Given the description of an element on the screen output the (x, y) to click on. 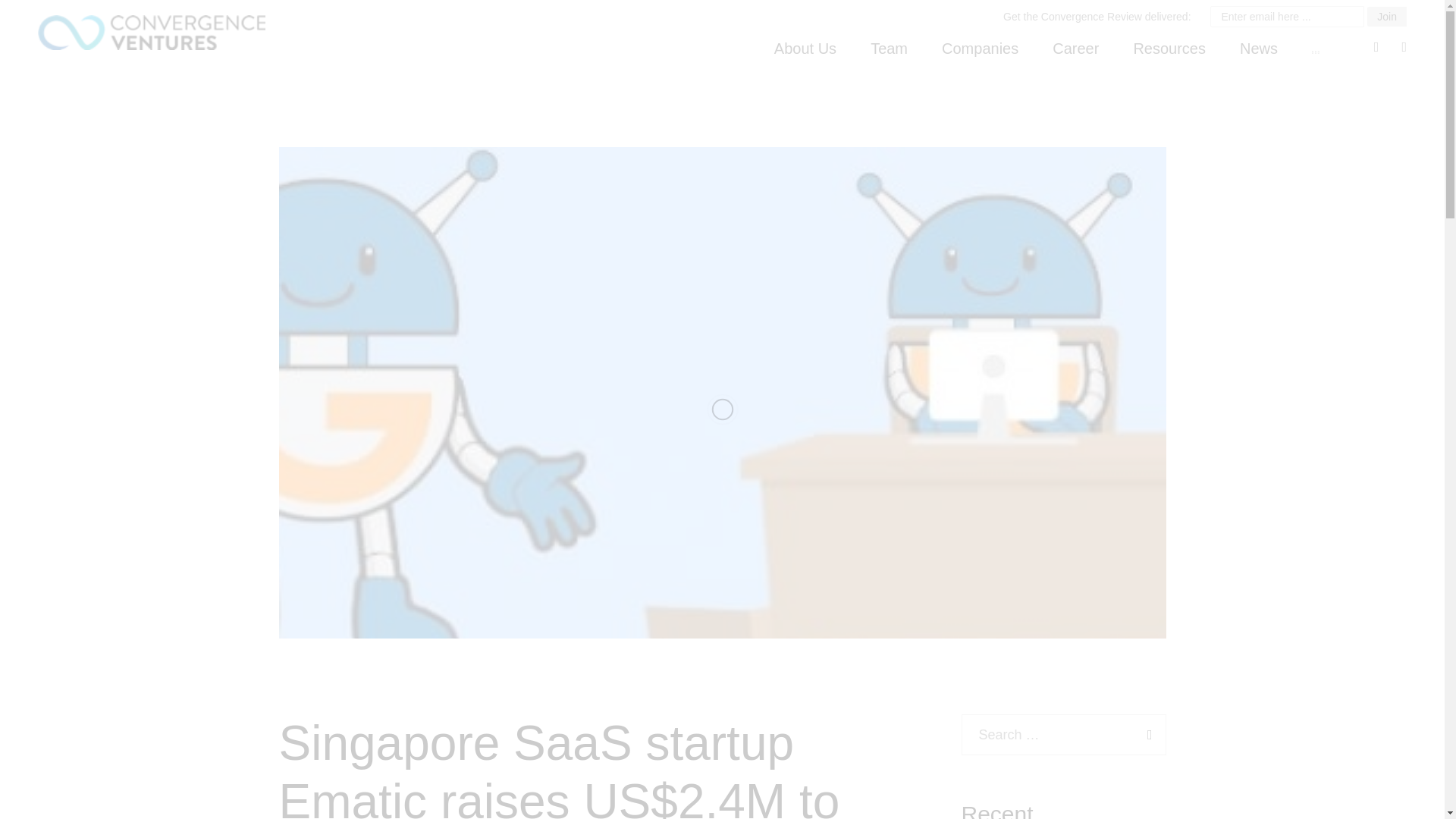
Join (1386, 16)
Team (888, 48)
Career (1075, 48)
Resources (1168, 48)
About Us (804, 48)
Join (1386, 16)
Companies (979, 48)
News (1259, 48)
